Given the description of an element on the screen output the (x, y) to click on. 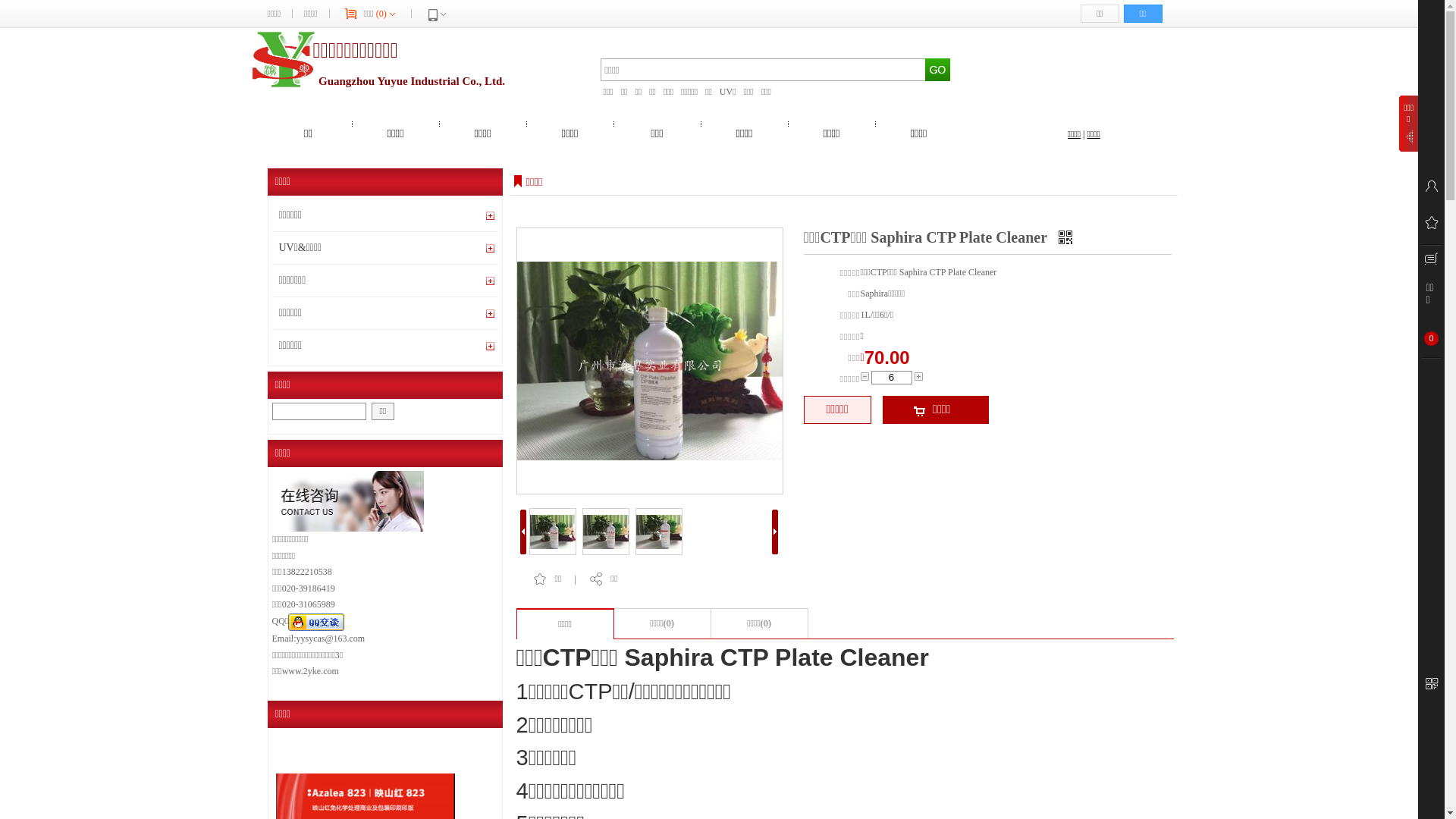
| Element type: text (1083, 133)
